Given the description of an element on the screen output the (x, y) to click on. 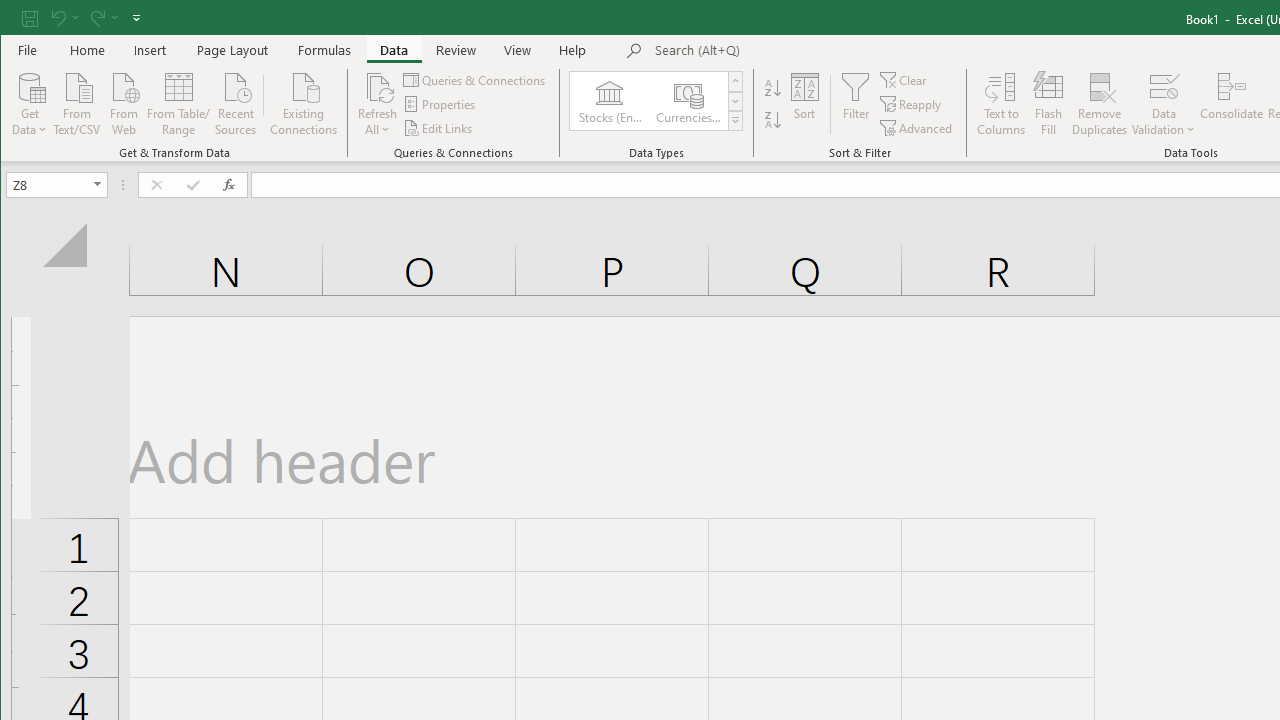
AutomationID: ConvertToLinkedEntity (657, 101)
File Tab (28, 49)
Save (29, 17)
Home (87, 50)
Formulas (325, 50)
Microsoft search (794, 51)
Advanced... (917, 127)
Text to Columns... (1001, 104)
Open (98, 184)
Get Data (29, 101)
Data Types (735, 120)
Review (456, 50)
Filter (855, 104)
